Given the description of an element on the screen output the (x, y) to click on. 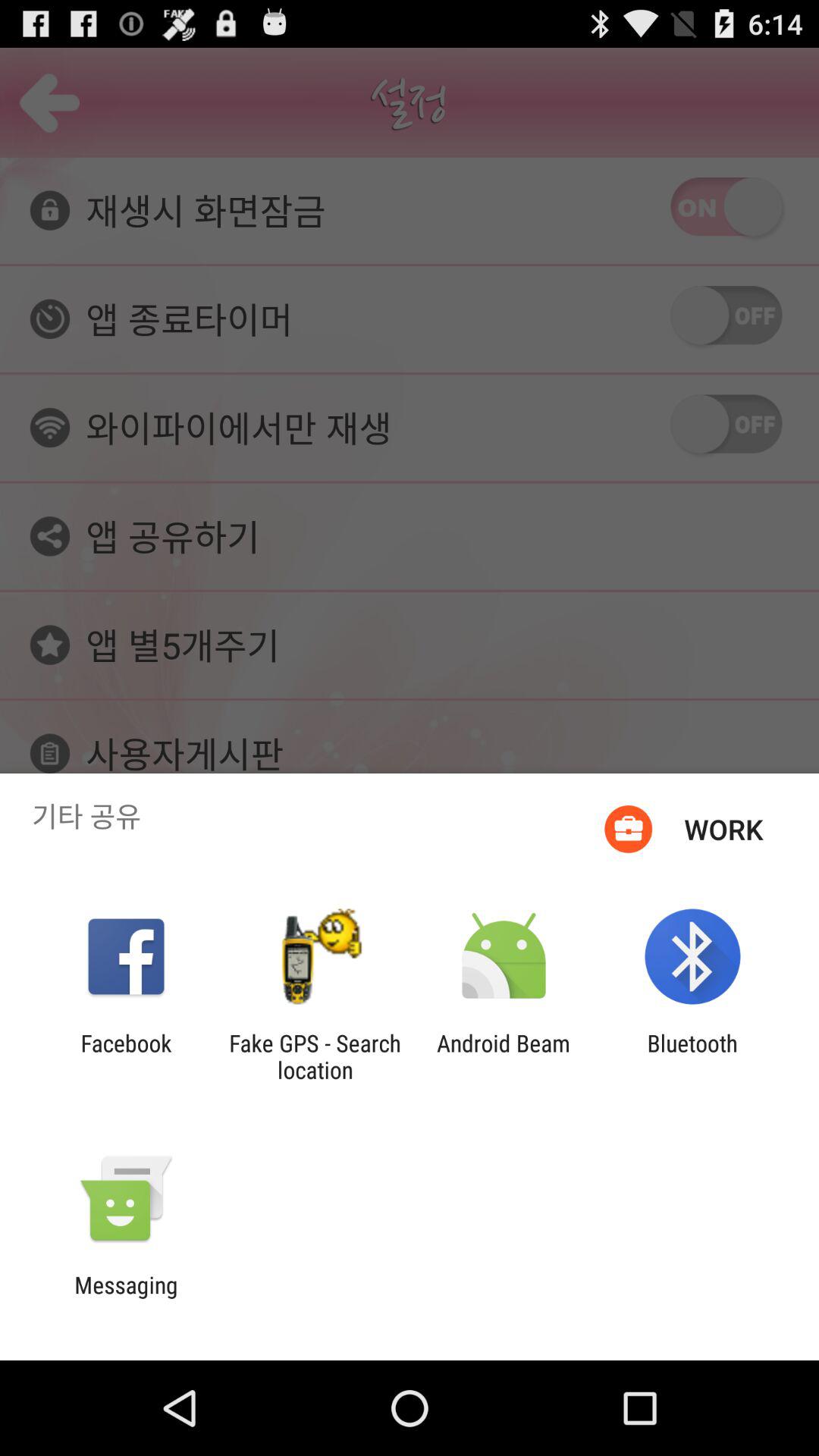
turn on the icon to the right of android beam item (692, 1056)
